Given the description of an element on the screen output the (x, y) to click on. 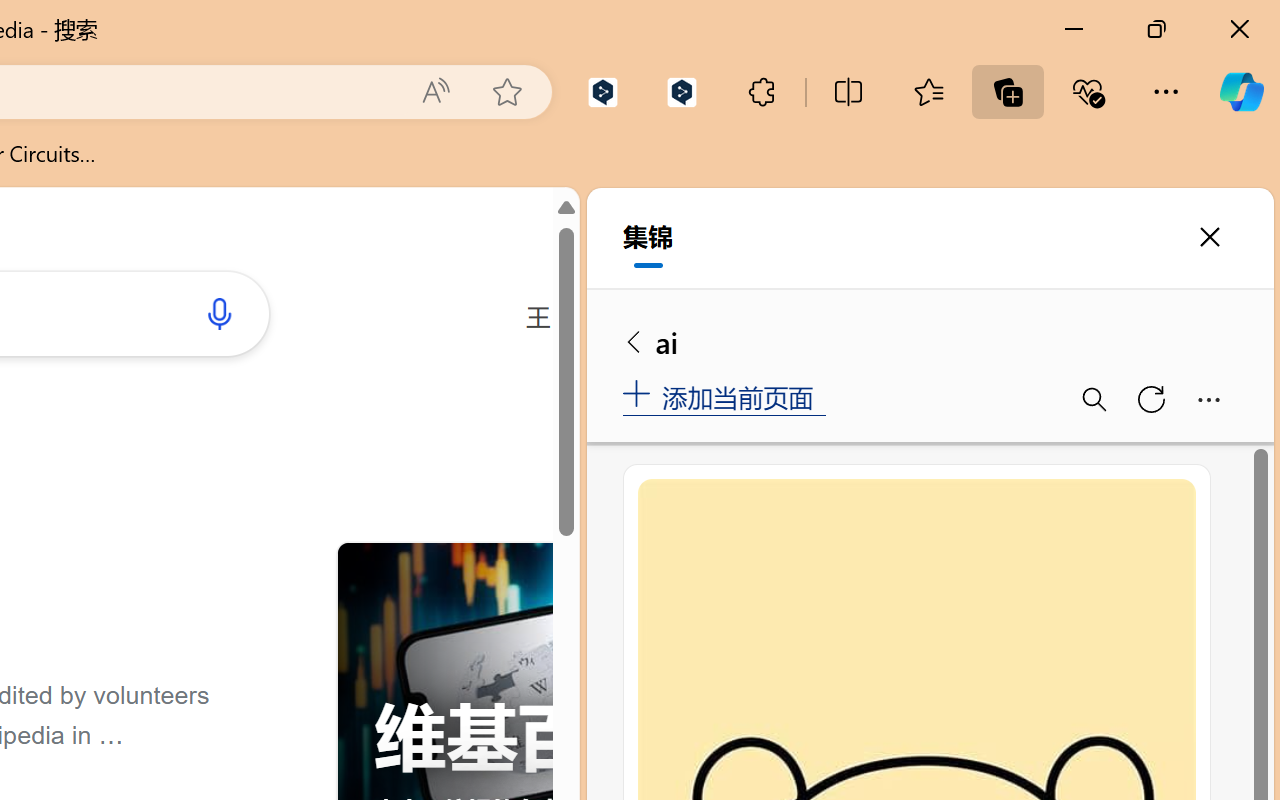
Copilot (Ctrl+Shift+.) (1241, 91)
